Given the description of an element on the screen output the (x, y) to click on. 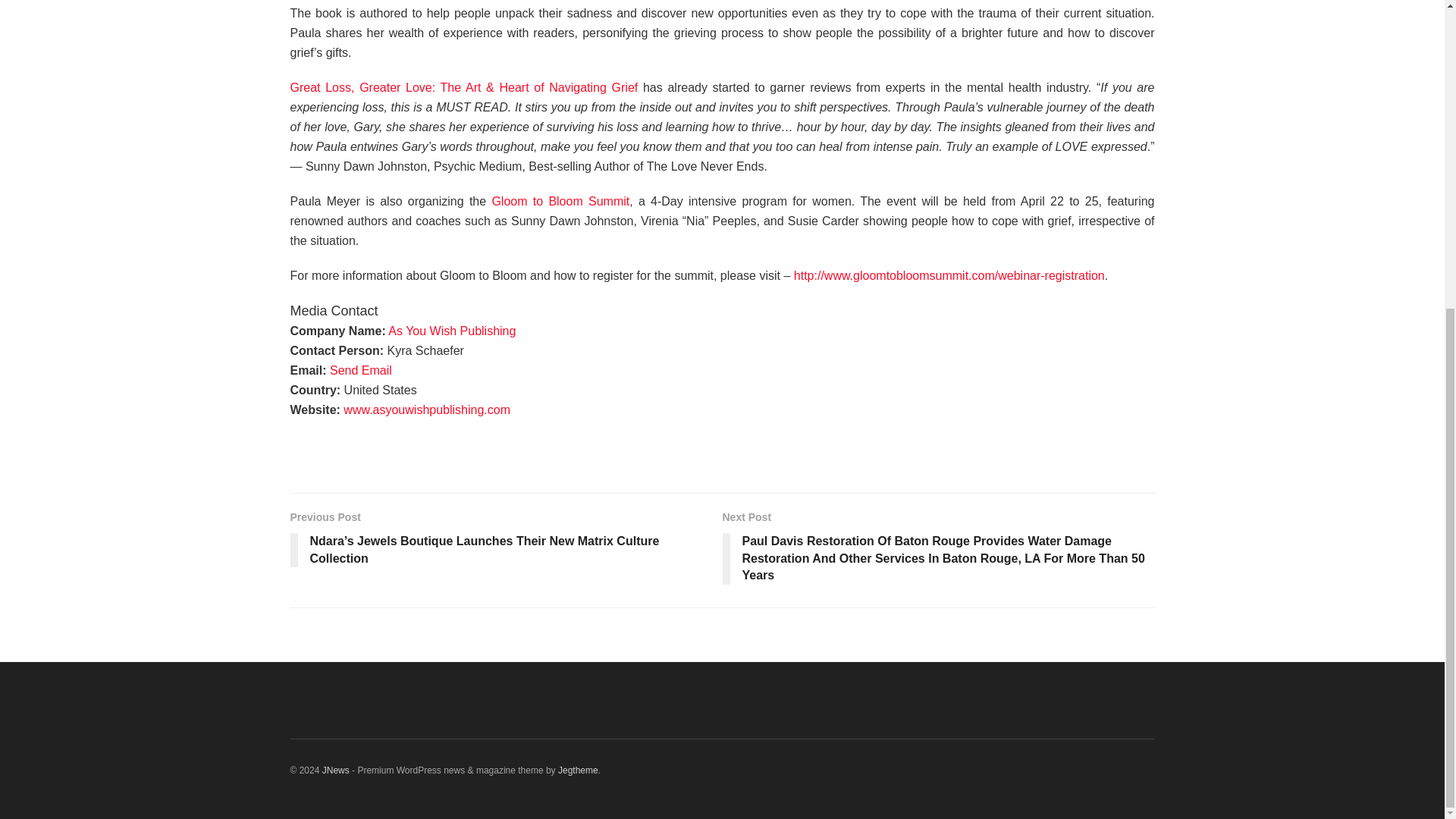
As You Wish Publishing (451, 330)
www.asyouwishpublishing.com (427, 409)
Jegtheme (577, 769)
Jegtheme (577, 769)
Gloom to Bloom Summit (560, 201)
Send Email (360, 369)
JNews (335, 769)
